Given the description of an element on the screen output the (x, y) to click on. 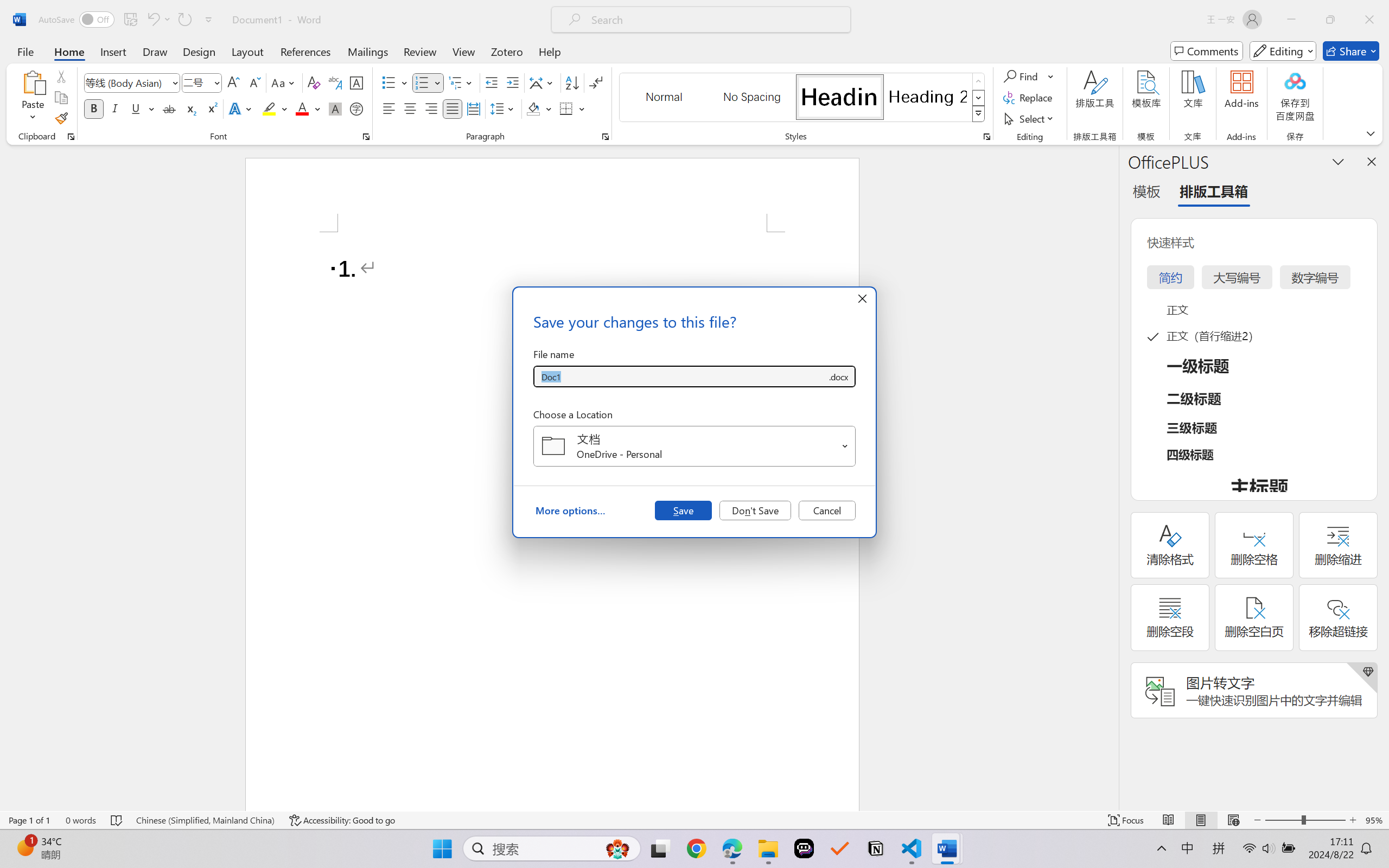
Don't Save (755, 509)
